Given the description of an element on the screen output the (x, y) to click on. 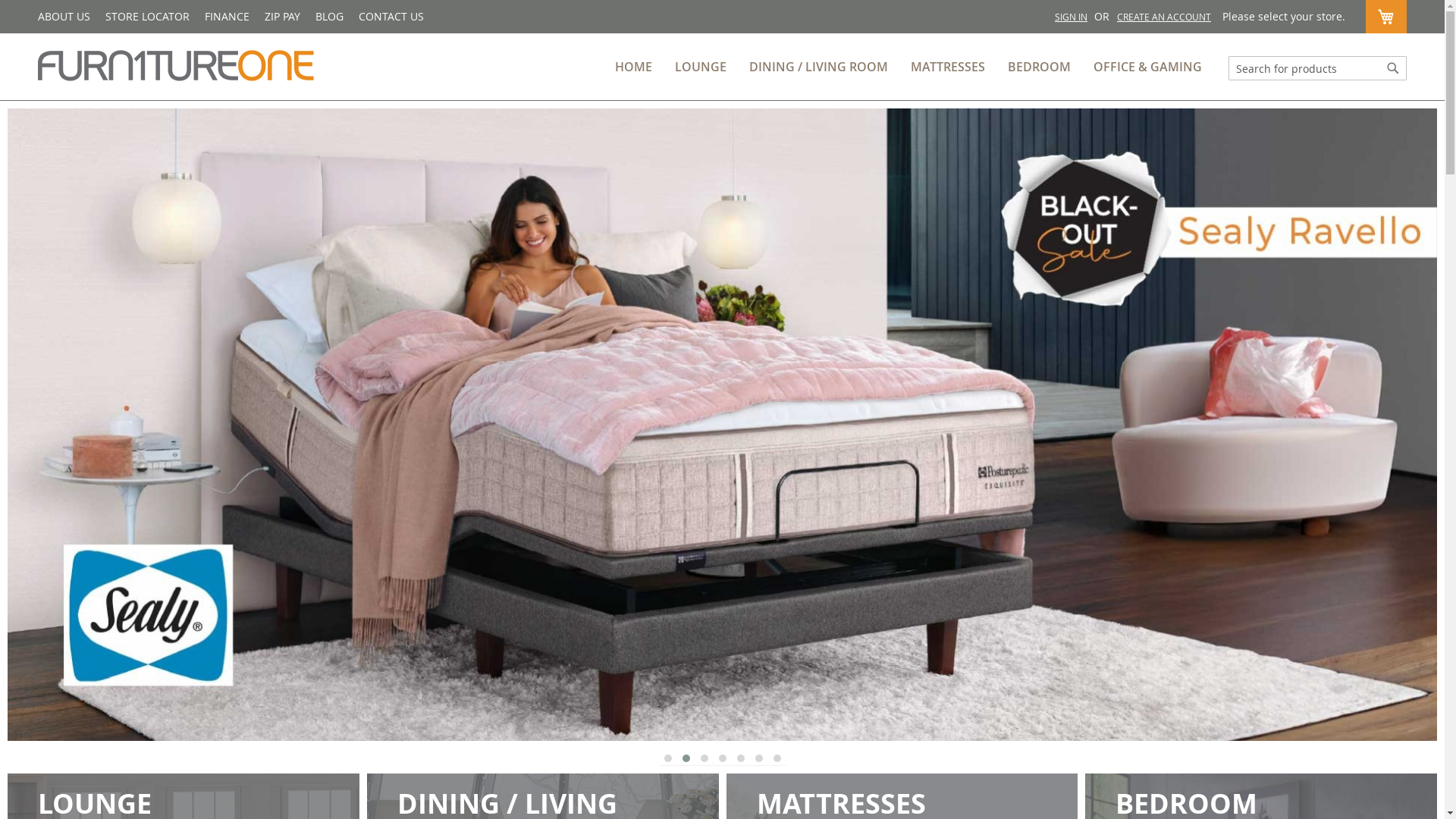
Please select your store. Element type: text (1283, 16)
BLOG Element type: text (329, 16)
LOUNGE Element type: text (700, 66)
CREATE AN ACCOUNT Element type: text (1164, 16)
BEDROOM Element type: text (1038, 66)
Skip to Content Element type: text (1031, 6)
FINANCE Element type: text (226, 16)
  Element type: text (722, 424)
ABOUT US Element type: text (63, 16)
STORE LOCATOR Element type: text (147, 16)
HOME Element type: text (633, 66)
My Cart Element type: text (1385, 16)
Search Element type: text (1392, 68)
OFFICE & GAMING Element type: text (1147, 66)
MATTRESSES Element type: text (947, 66)
CONTACT US Element type: text (390, 16)
ZIP PAY Element type: text (282, 16)
SIGN IN Element type: text (1070, 16)
DINING / LIVING ROOM Element type: text (818, 66)
